Given the description of an element on the screen output the (x, y) to click on. 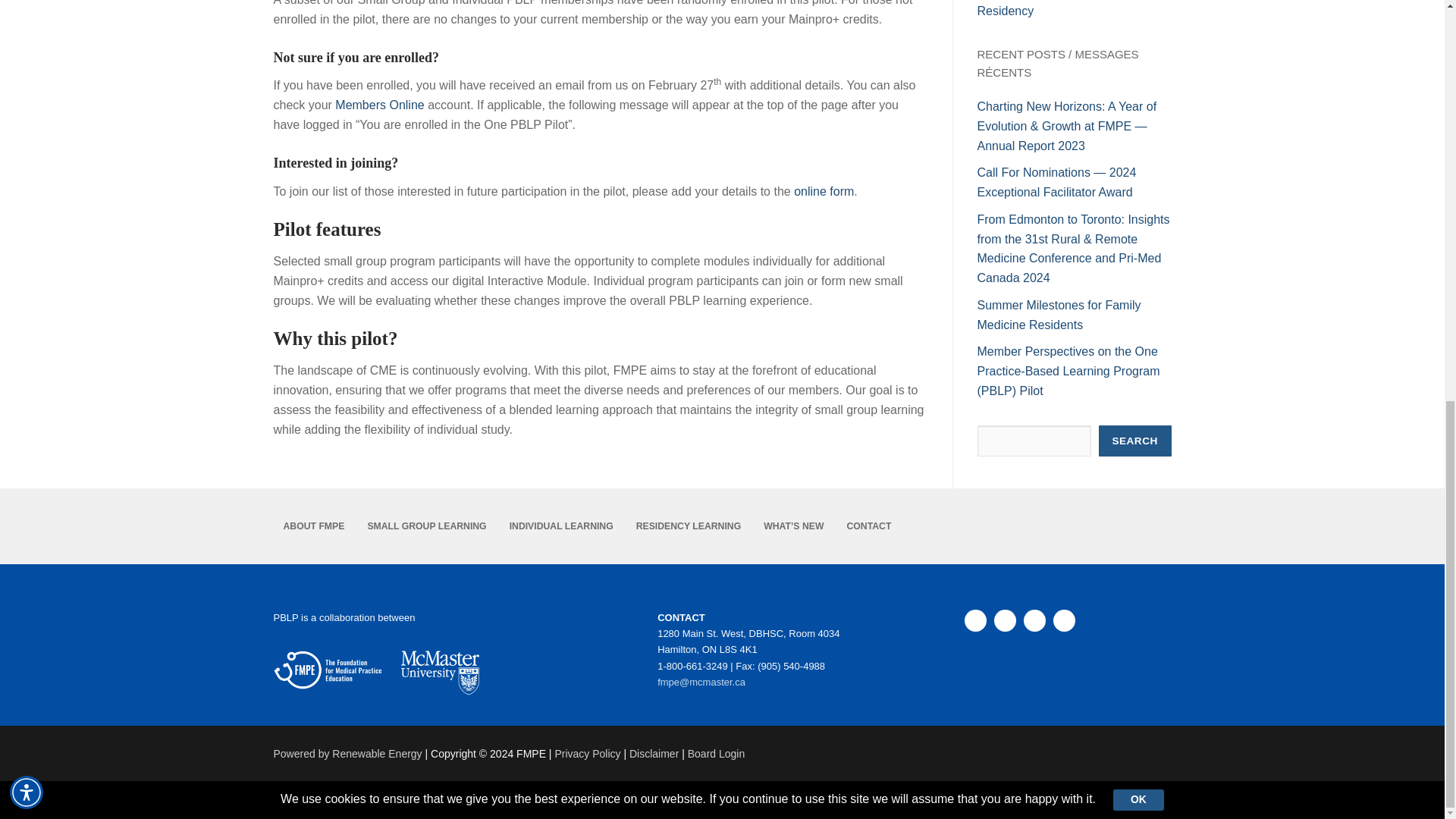
Accessibility Menu (26, 12)
